Given the description of an element on the screen output the (x, y) to click on. 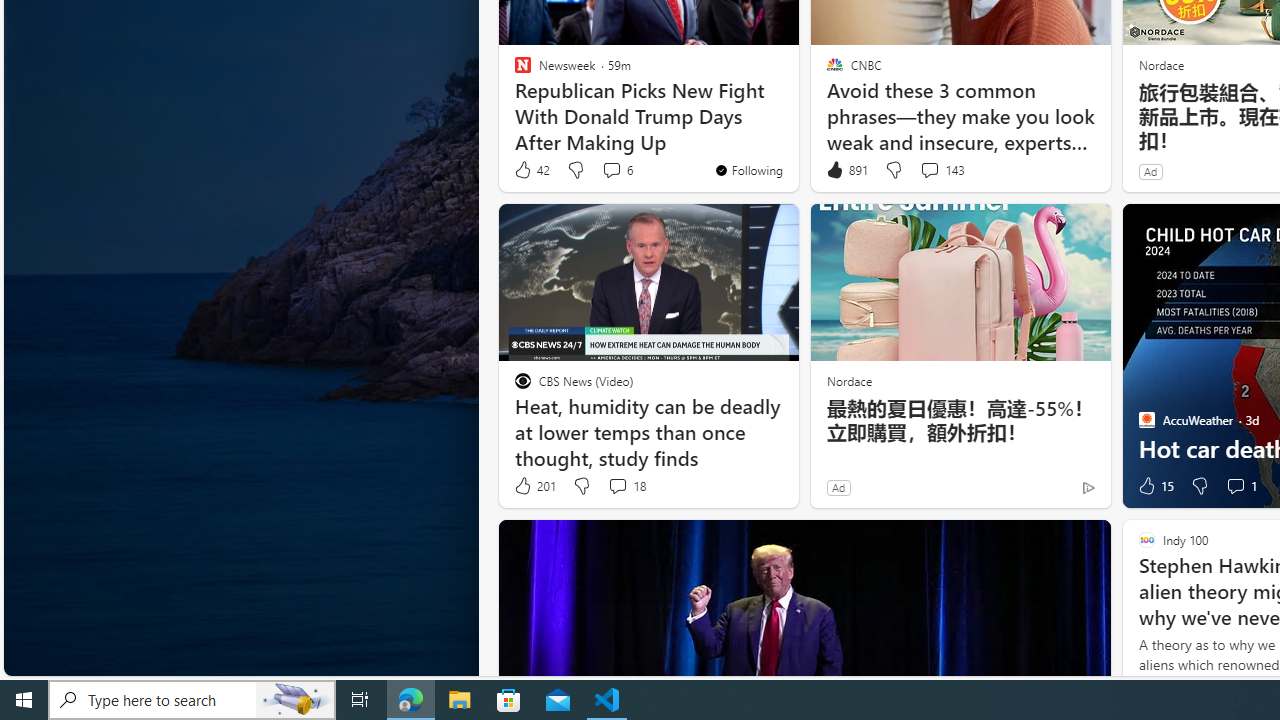
42 Like (531, 170)
15 Like (1154, 485)
891 Like (845, 170)
View comments 1 Comment (1234, 485)
View comments 143 Comment (941, 170)
201 Like (534, 485)
View comments 143 Comment (929, 169)
View comments 6 Comment (611, 169)
View comments 1 Comment (1240, 485)
View comments 18 Comment (617, 485)
